Given the description of an element on the screen output the (x, y) to click on. 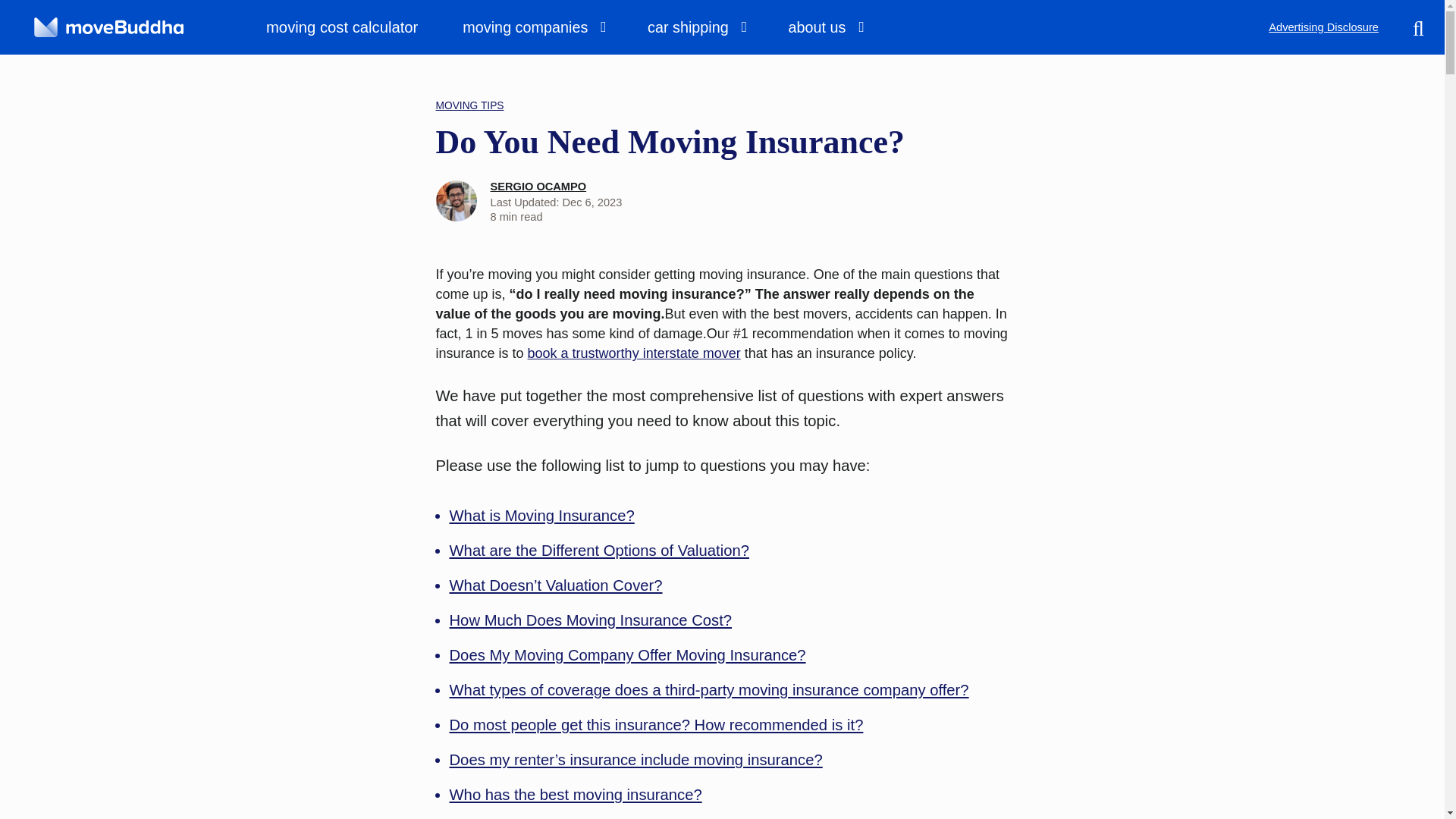
Advertising Disclosure (1323, 27)
moving cost calculator (352, 26)
car shipping (694, 27)
about us (825, 27)
moving companies (532, 27)
